Given the description of an element on the screen output the (x, y) to click on. 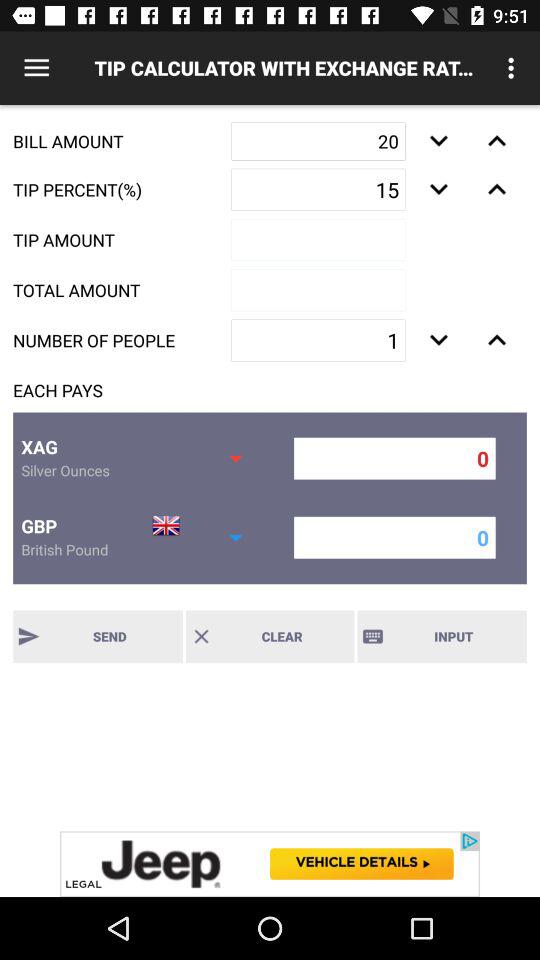
go above (496, 189)
